Given the description of an element on the screen output the (x, y) to click on. 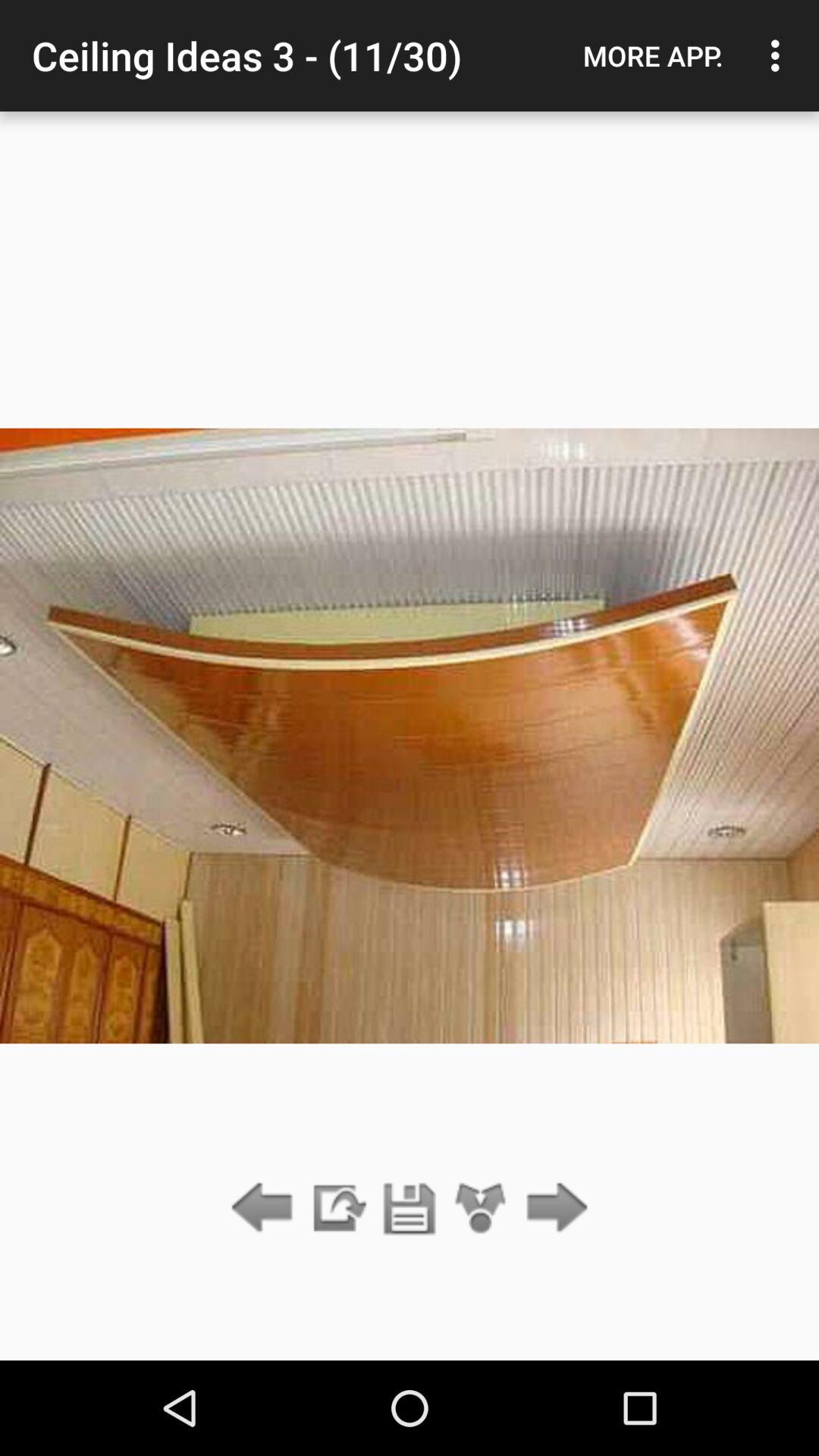
press app below ceiling ideas 3 item (409, 1208)
